Given the description of an element on the screen output the (x, y) to click on. 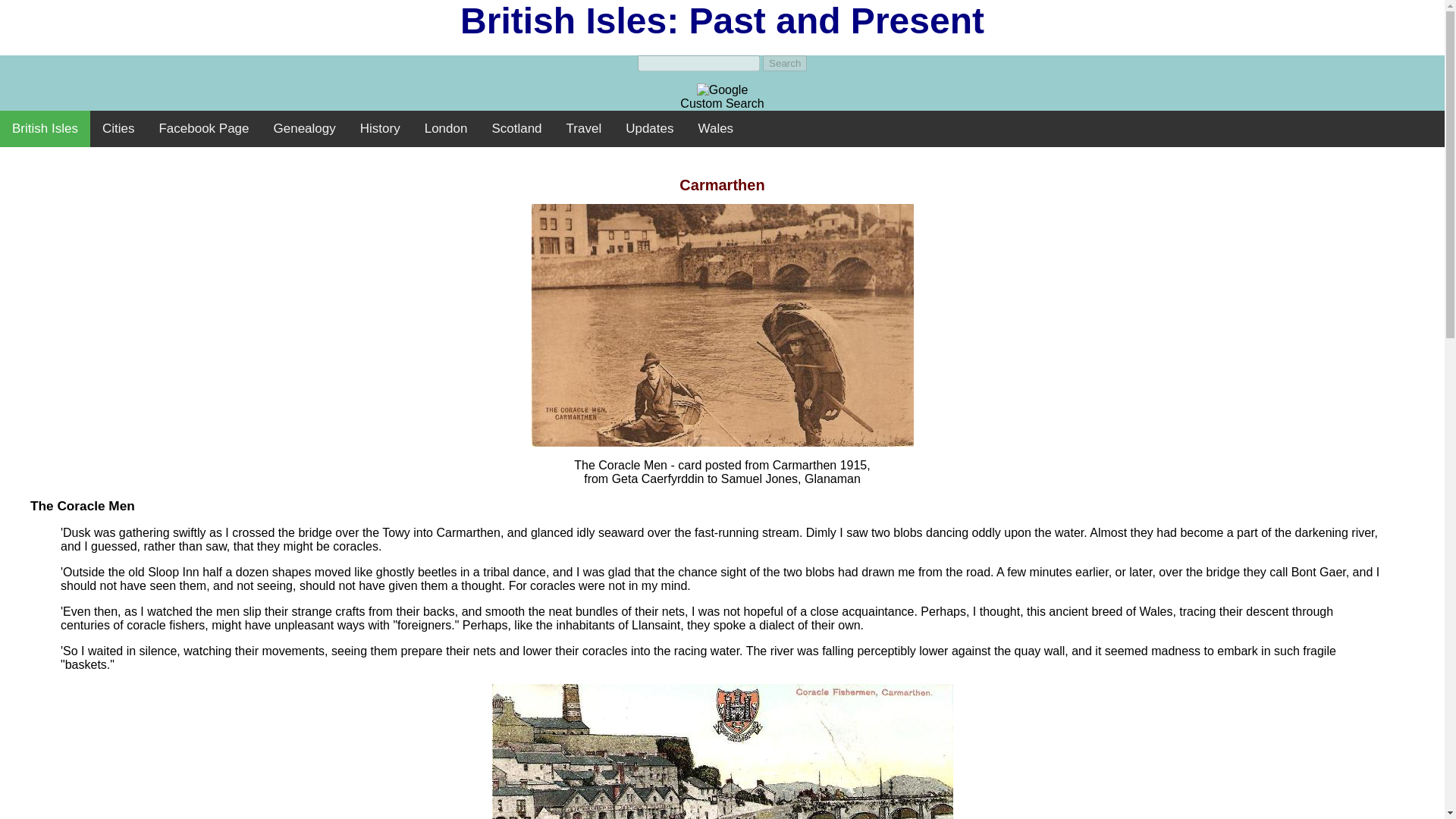
History (379, 128)
Cities (118, 128)
Scotland (516, 128)
London (446, 128)
British Isles (45, 128)
Search (784, 63)
Travel (584, 128)
Facebook Page (203, 128)
Updates (648, 128)
Wales (715, 128)
Genealogy (304, 128)
Search (784, 63)
Advertisement (721, 155)
